Given the description of an element on the screen output the (x, y) to click on. 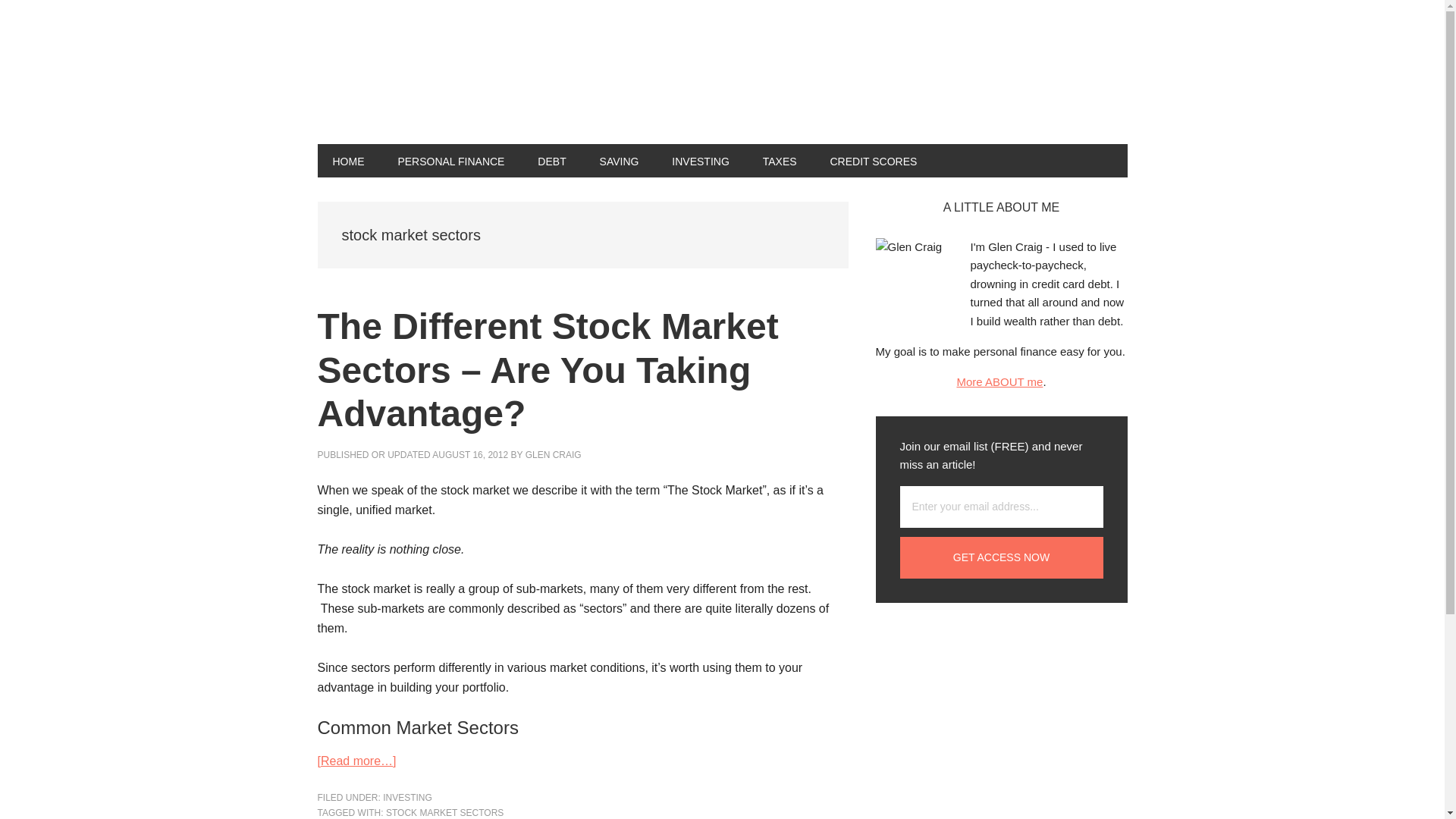
GLEN CRAIG (552, 454)
INVESTING (700, 160)
PERSONAL FINANCE (450, 160)
DEBT (551, 160)
FREE FROM BROKE (419, 81)
STOCK MARKET SECTORS (444, 812)
HOME (347, 160)
More ABOUT me (999, 381)
SAVING (619, 160)
INVESTING (407, 797)
